Given the description of an element on the screen output the (x, y) to click on. 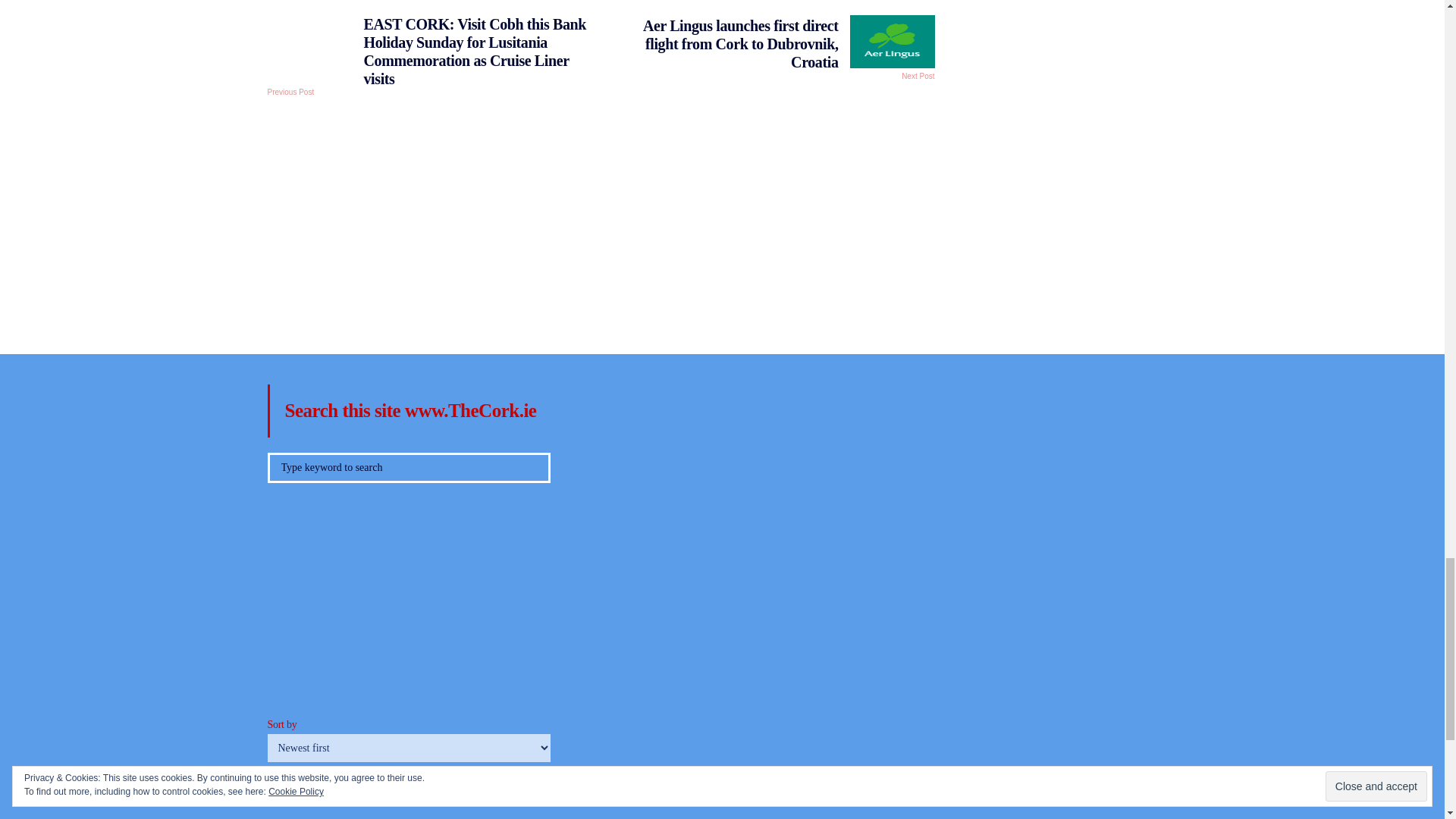
Type keyword to search (408, 467)
Type keyword to search (408, 467)
